Given the description of an element on the screen output the (x, y) to click on. 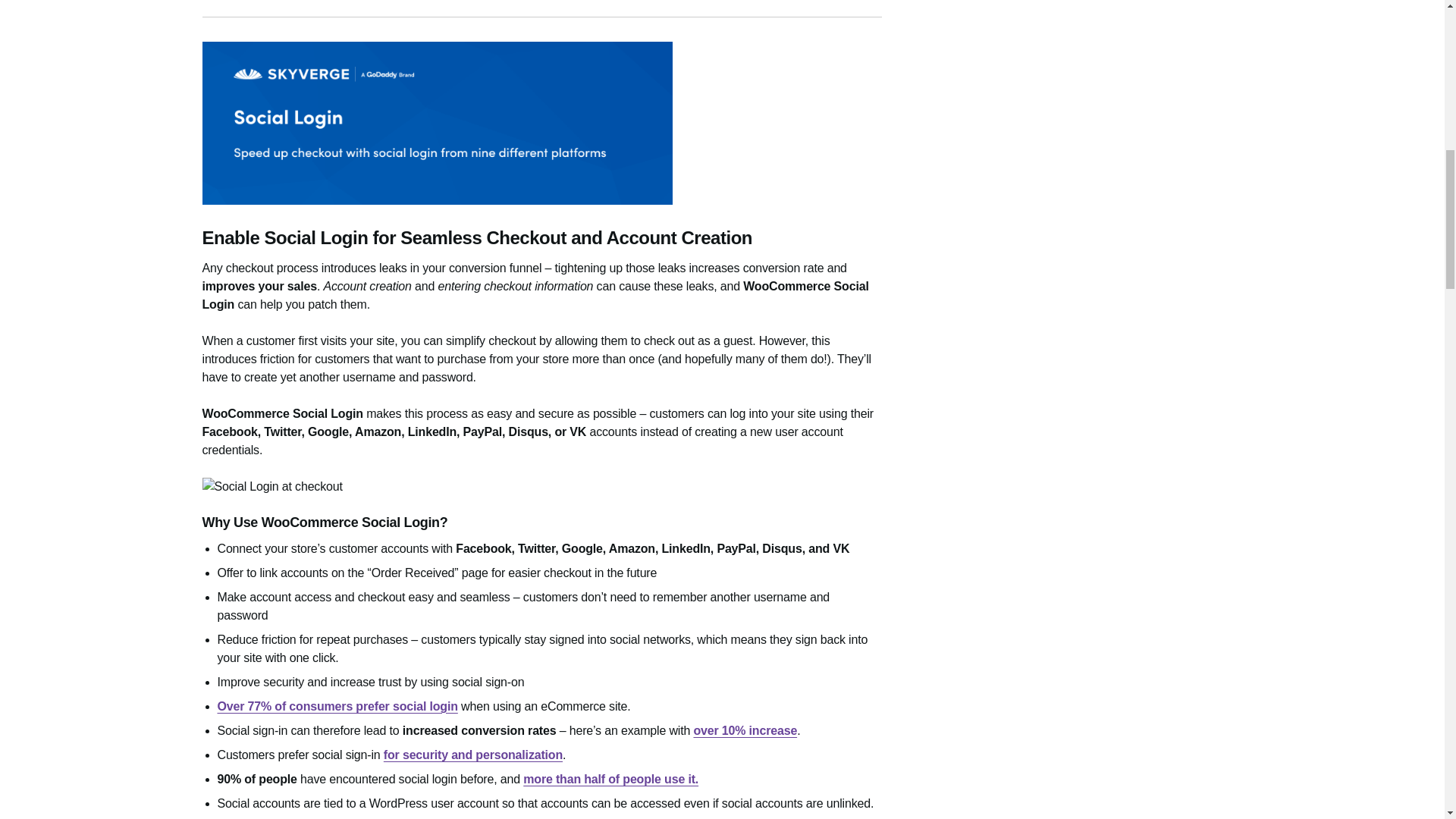
more than half of people use it. (610, 779)
for security and personalization (473, 754)
